Given the description of an element on the screen output the (x, y) to click on. 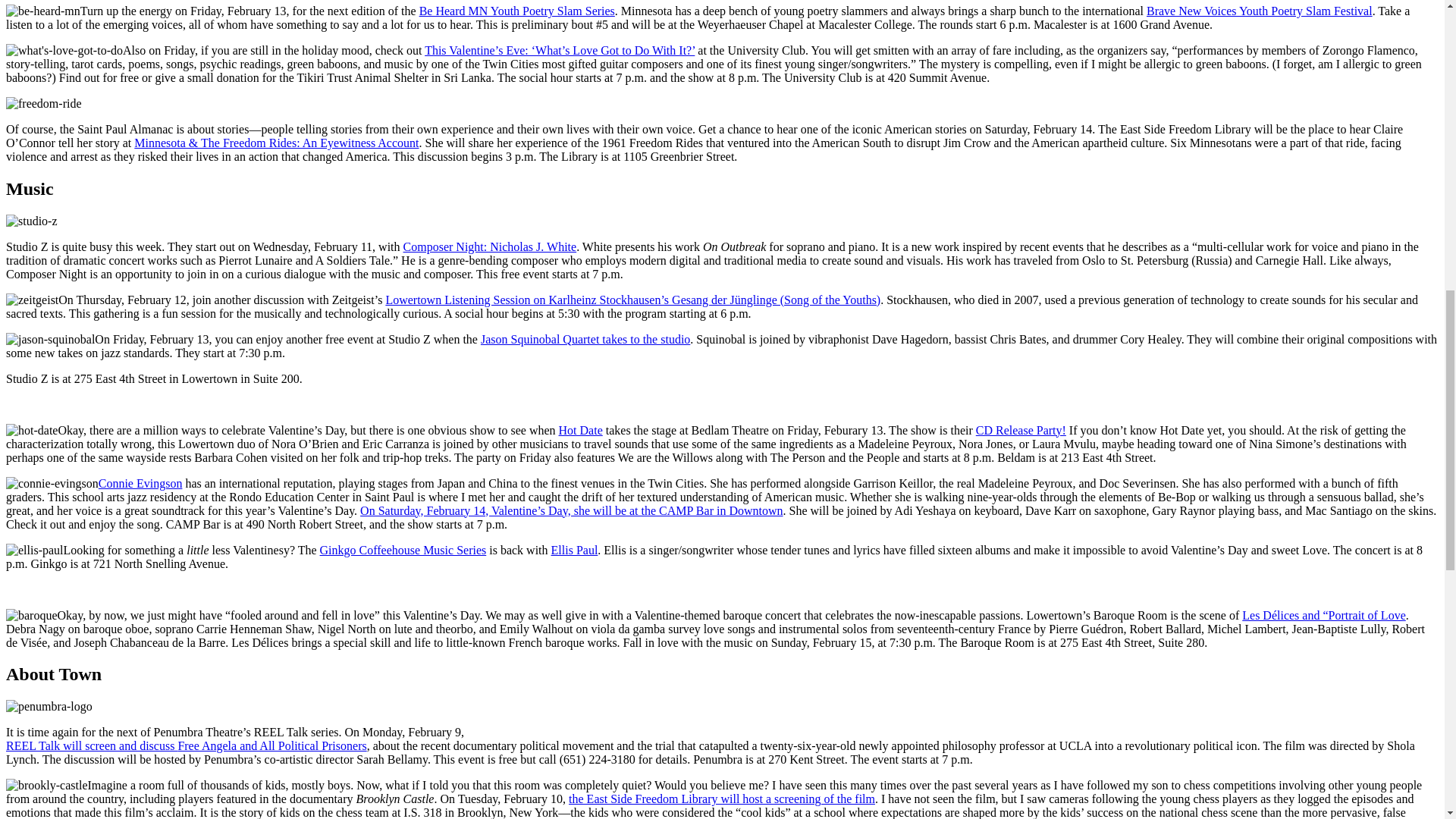
Brave New Voices Youth Poetry Slam Festival (1260, 10)
Be Heard MN Youth Poetry Slam Series (516, 10)
